Given the description of an element on the screen output the (x, y) to click on. 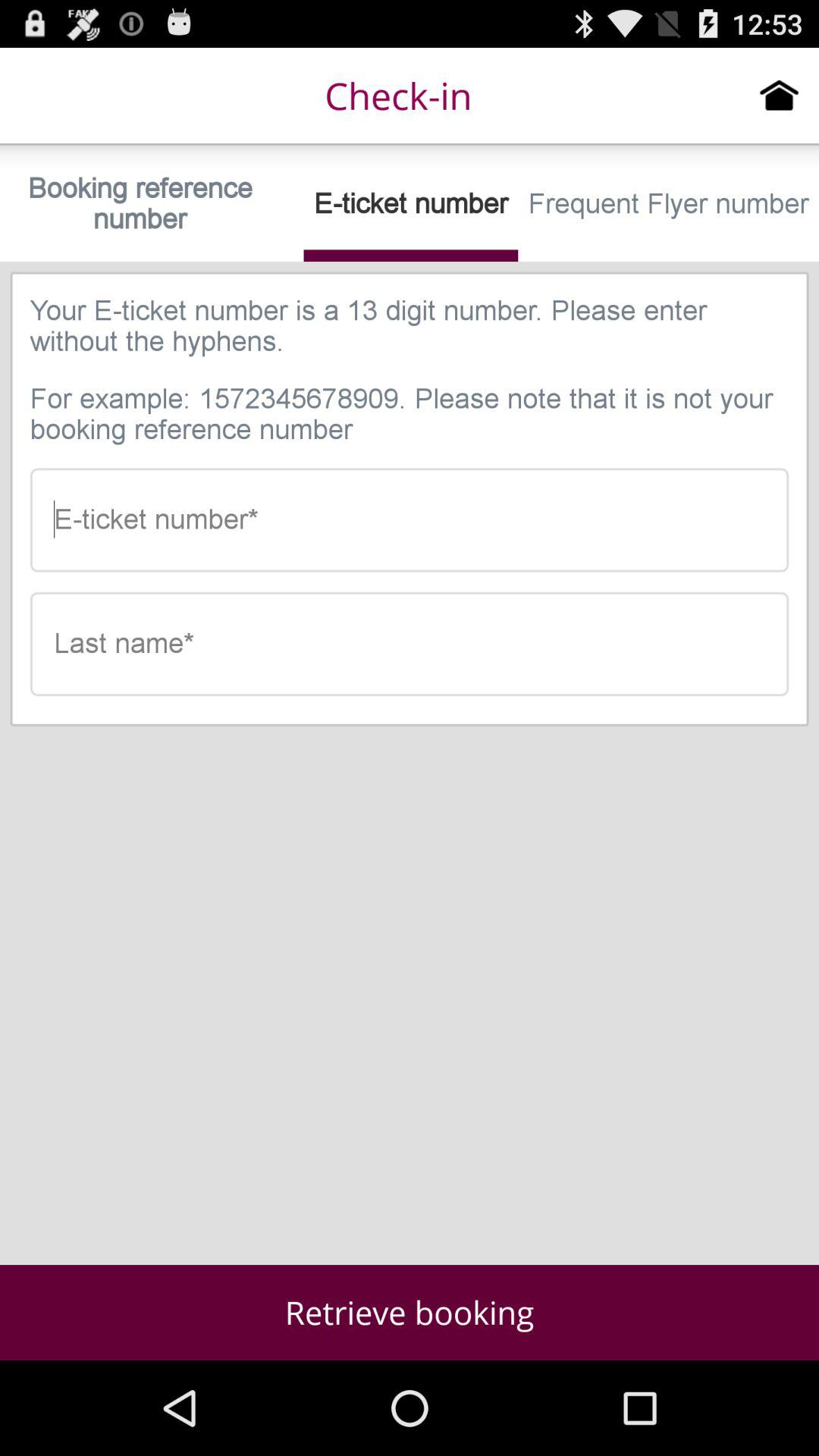
open retrieve booking at the bottom (409, 1312)
